Given the description of an element on the screen output the (x, y) to click on. 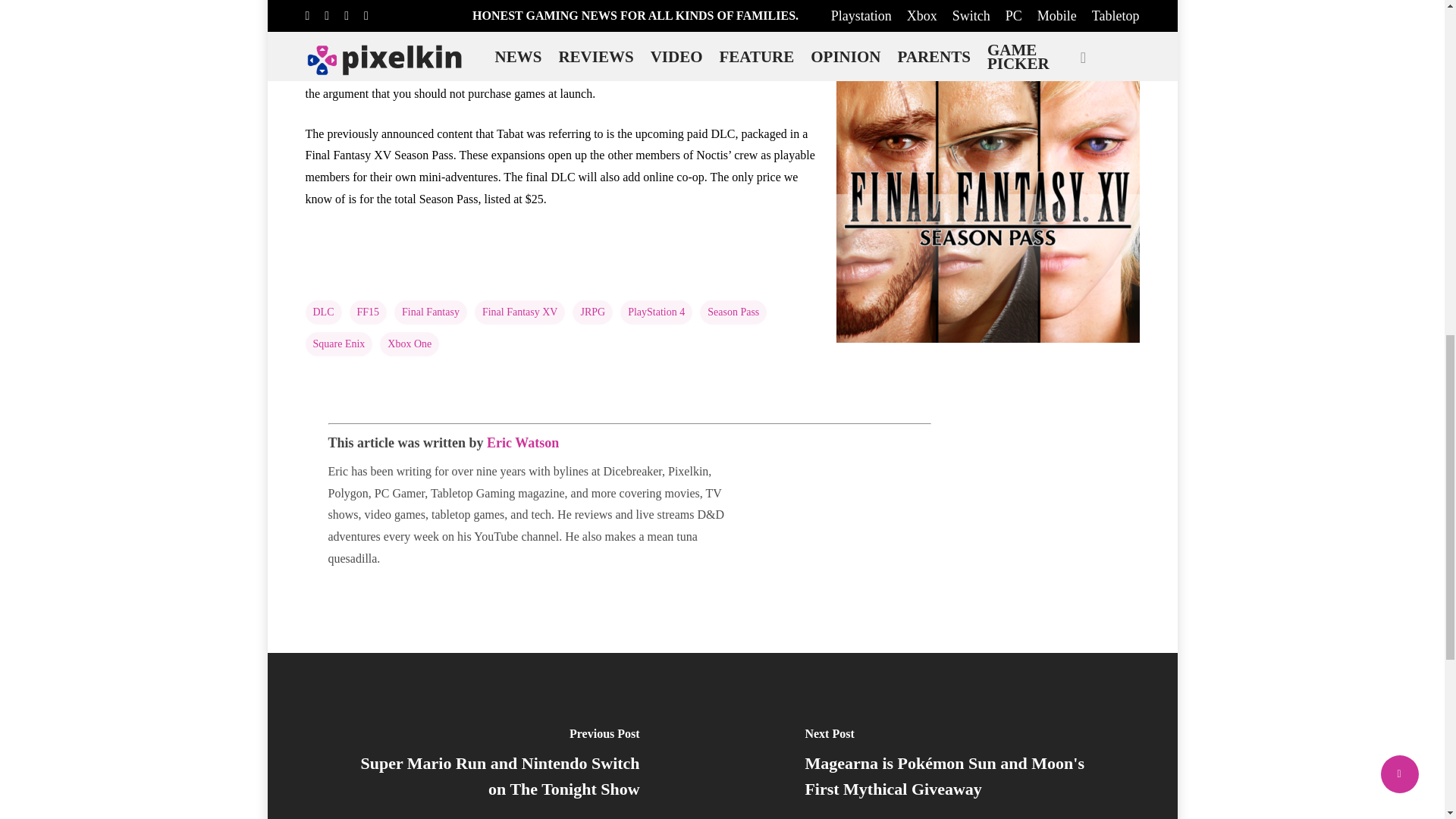
PlayStation 4 (656, 312)
JRPG (592, 312)
Final Fantasy (430, 312)
FF15 (368, 312)
DLC (322, 312)
Season Pass (733, 312)
Posts by Eric Watson (522, 442)
Final Fantasy XV (520, 312)
